Given the description of an element on the screen output the (x, y) to click on. 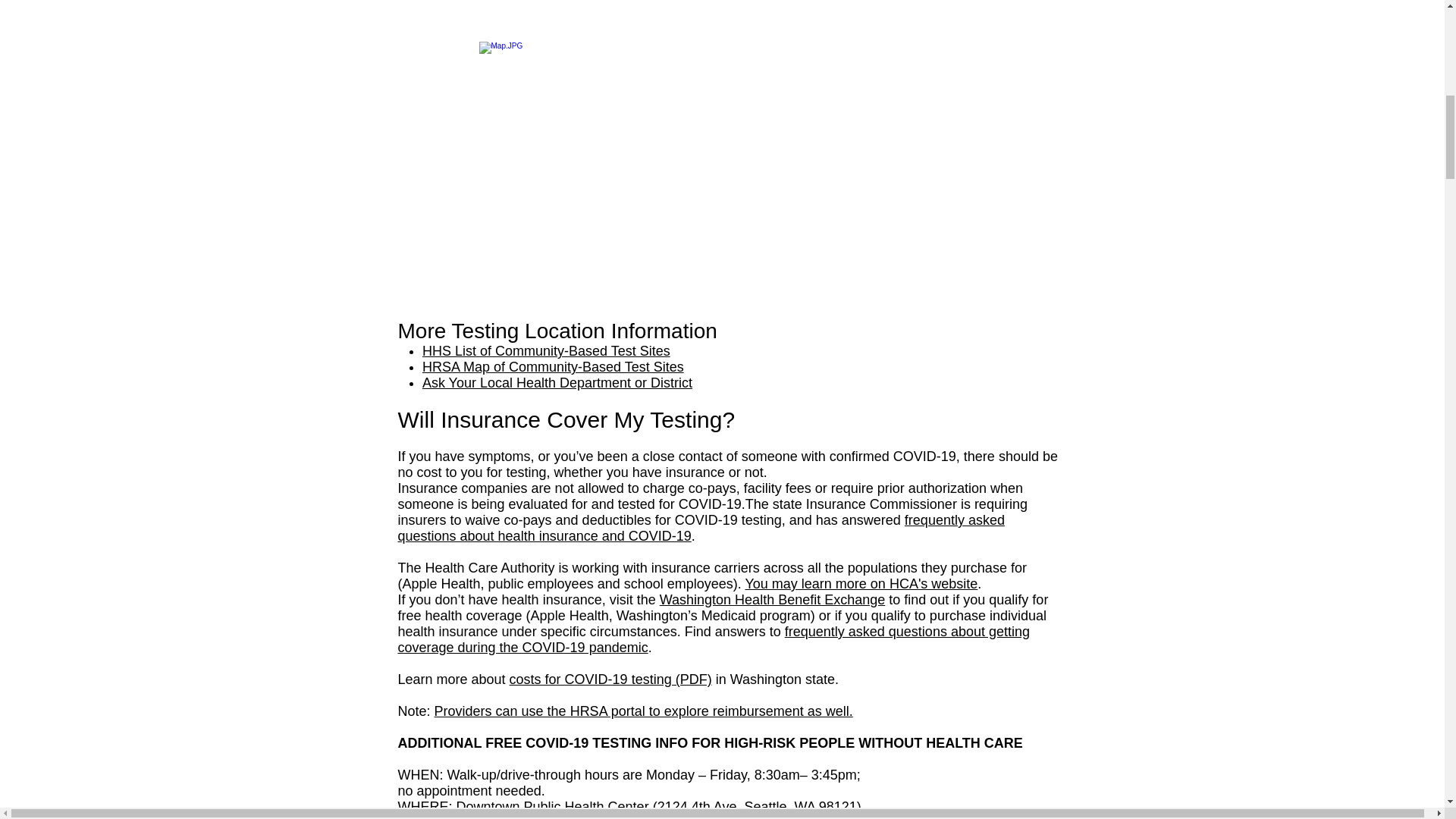
Ask Your Local Health Department or District (557, 382)
HHS List of Community-Based Test Sites (545, 350)
Washington Health Benefit Exchange (772, 599)
HRSA Map of Community-Based Test Sites (553, 366)
You may learn more on HCA's website (860, 583)
2124 4th Ave, Seattle, WA 98121 (757, 806)
